Given the description of an element on the screen output the (x, y) to click on. 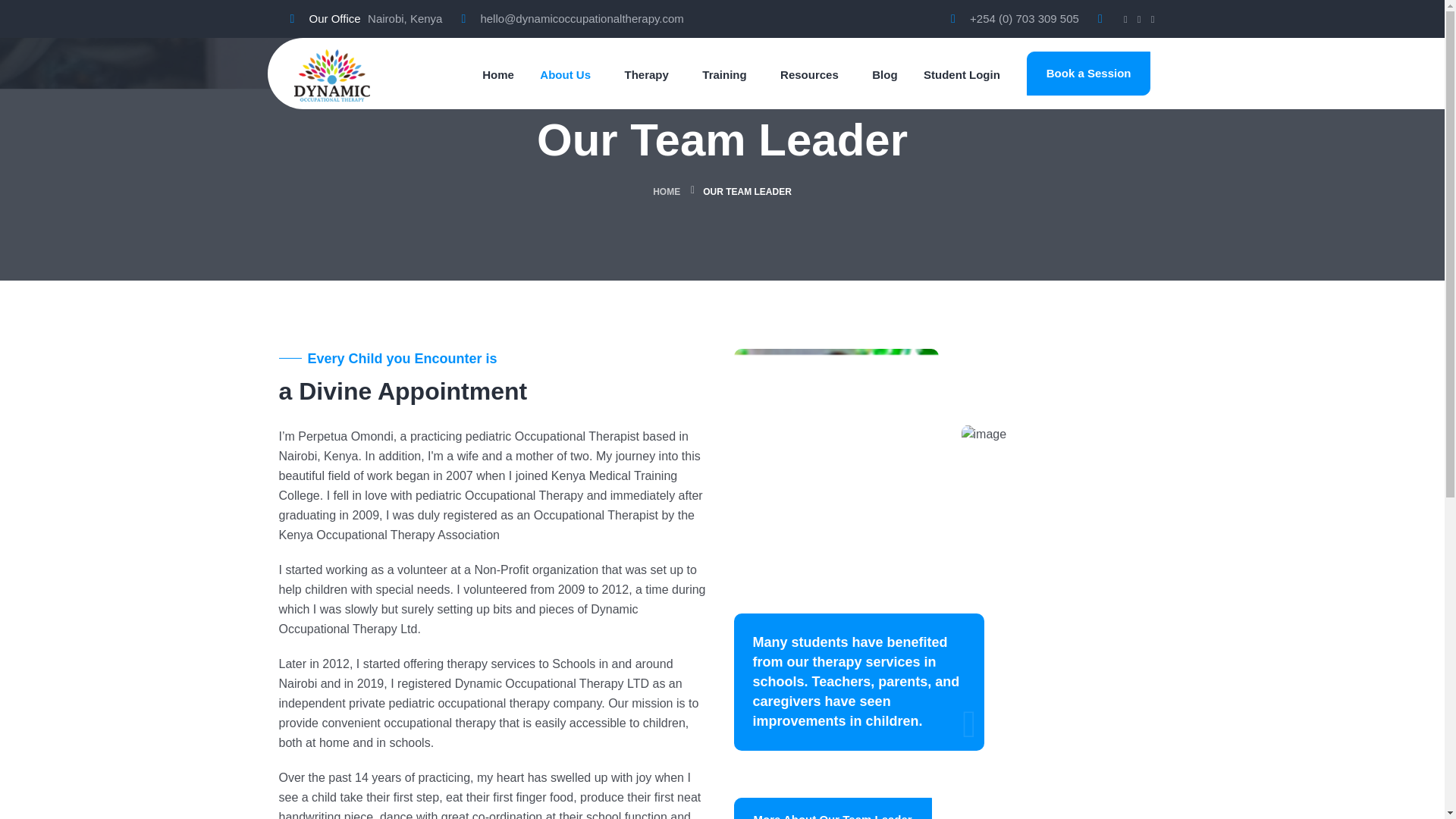
Home (497, 75)
Blog (884, 75)
Therapy (646, 75)
Book a Session (1088, 73)
Training (723, 75)
About Us (565, 75)
Resources (809, 75)
Student Login (961, 75)
